Given the description of an element on the screen output the (x, y) to click on. 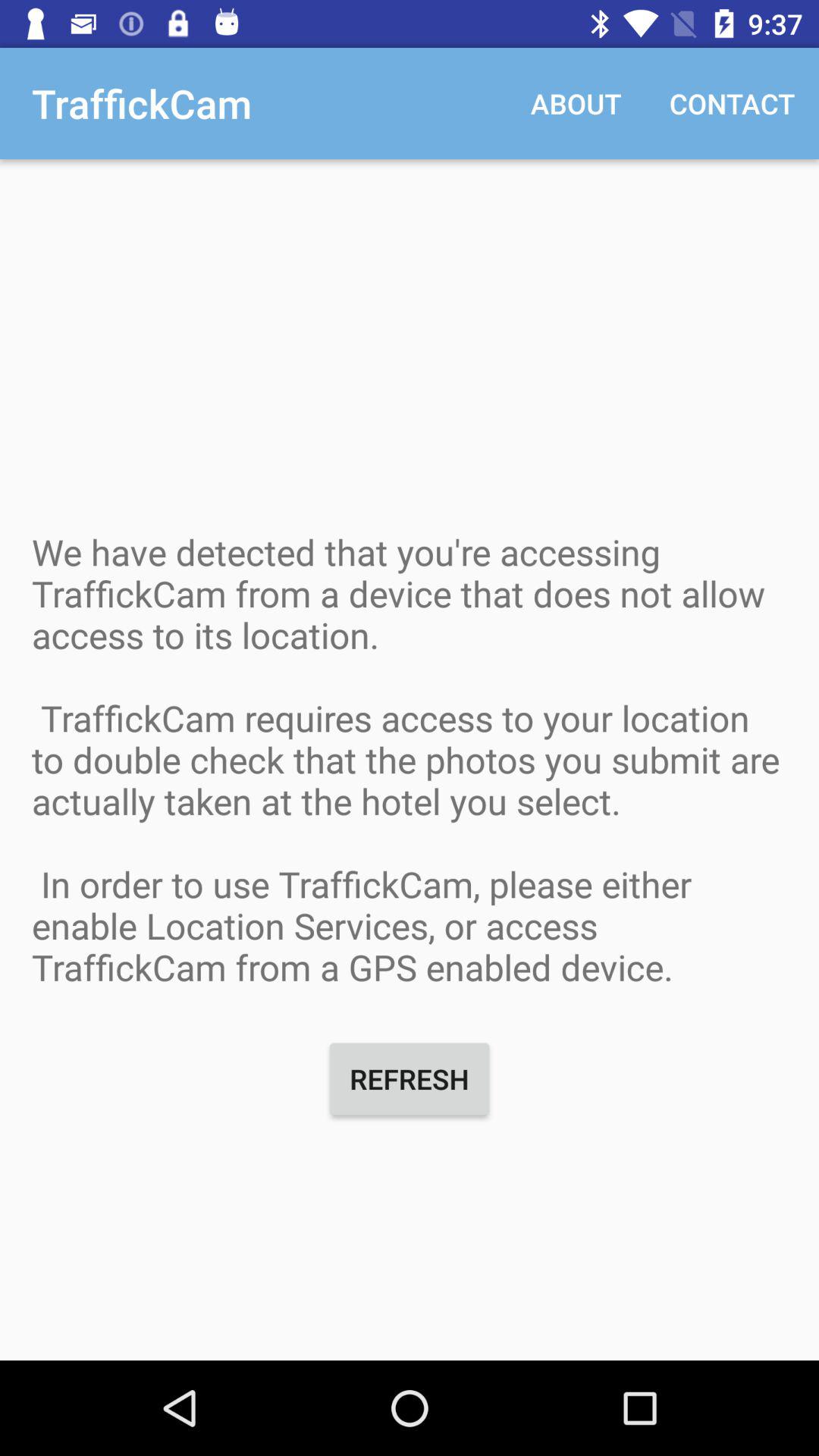
select the refresh icon (409, 1078)
